Given the description of an element on the screen output the (x, y) to click on. 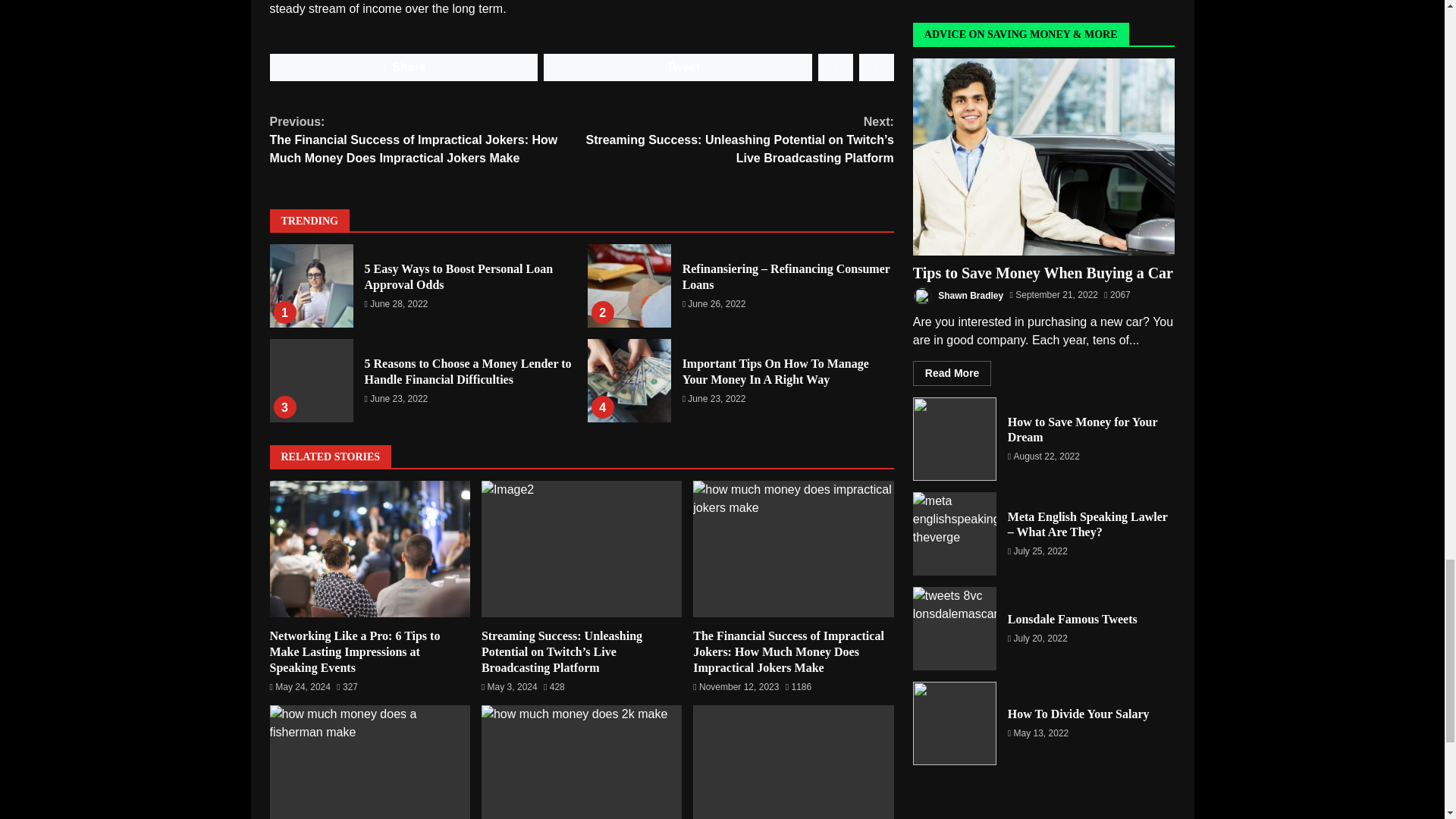
Share (403, 67)
Important Tips On How To Manage Your Money In A Right Way (629, 380)
428 (553, 686)
1186 (798, 686)
Important Tips On How To Manage Your Money In A Right Way (775, 371)
5 Easy Ways to Boost Personal Loan Approval Odds (458, 276)
Tweet (677, 67)
327 (347, 686)
